Given the description of an element on the screen output the (x, y) to click on. 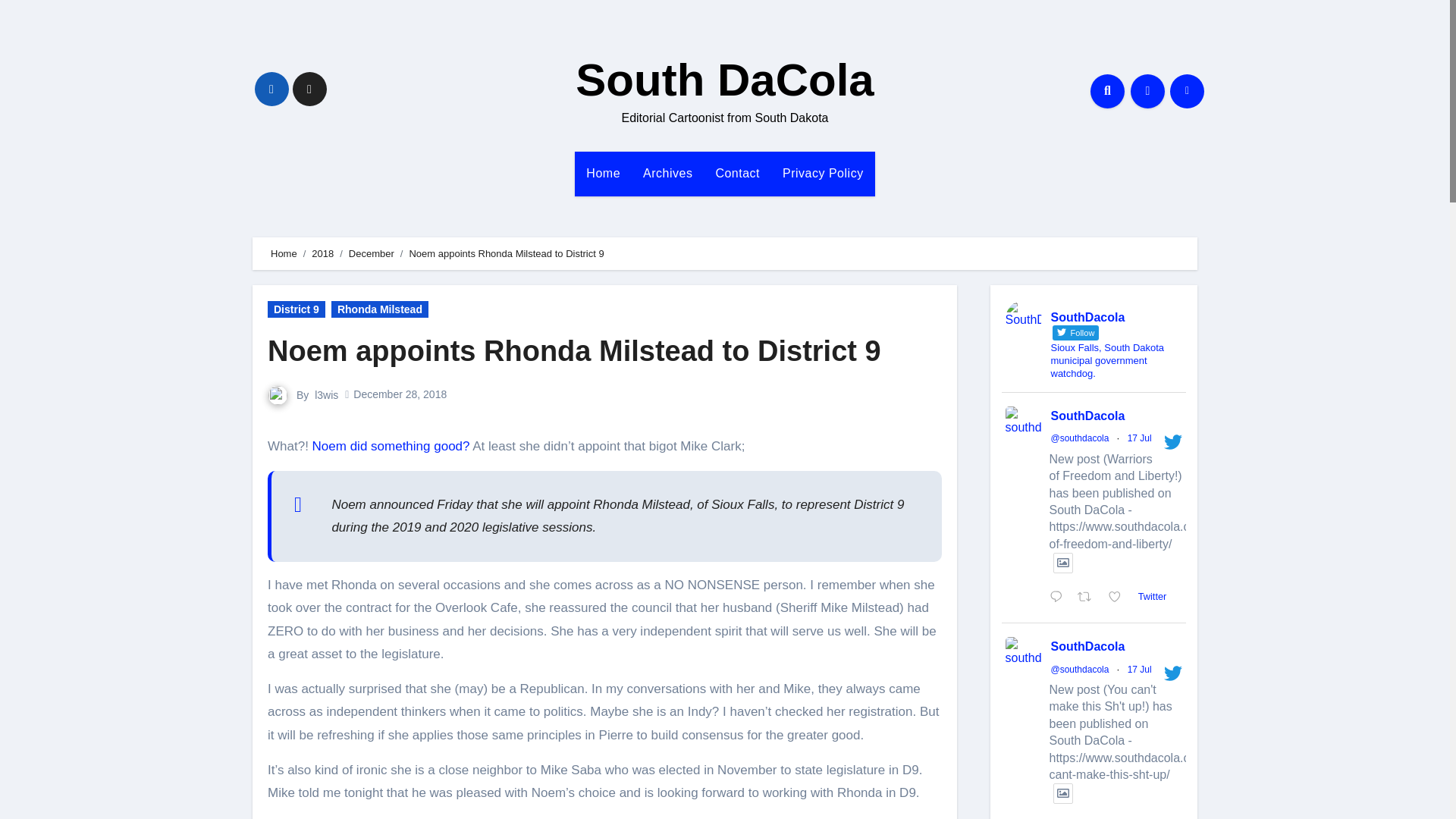
l3wis (325, 394)
Permalink to: Noem appoints Rhonda Milstead to District 9 (573, 350)
Home (283, 253)
Privacy Policy (823, 173)
Contact (737, 173)
Home (603, 173)
December 28, 2018 (399, 394)
December (371, 253)
Rhonda Milstead (379, 309)
Archives (667, 173)
